Given the description of an element on the screen output the (x, y) to click on. 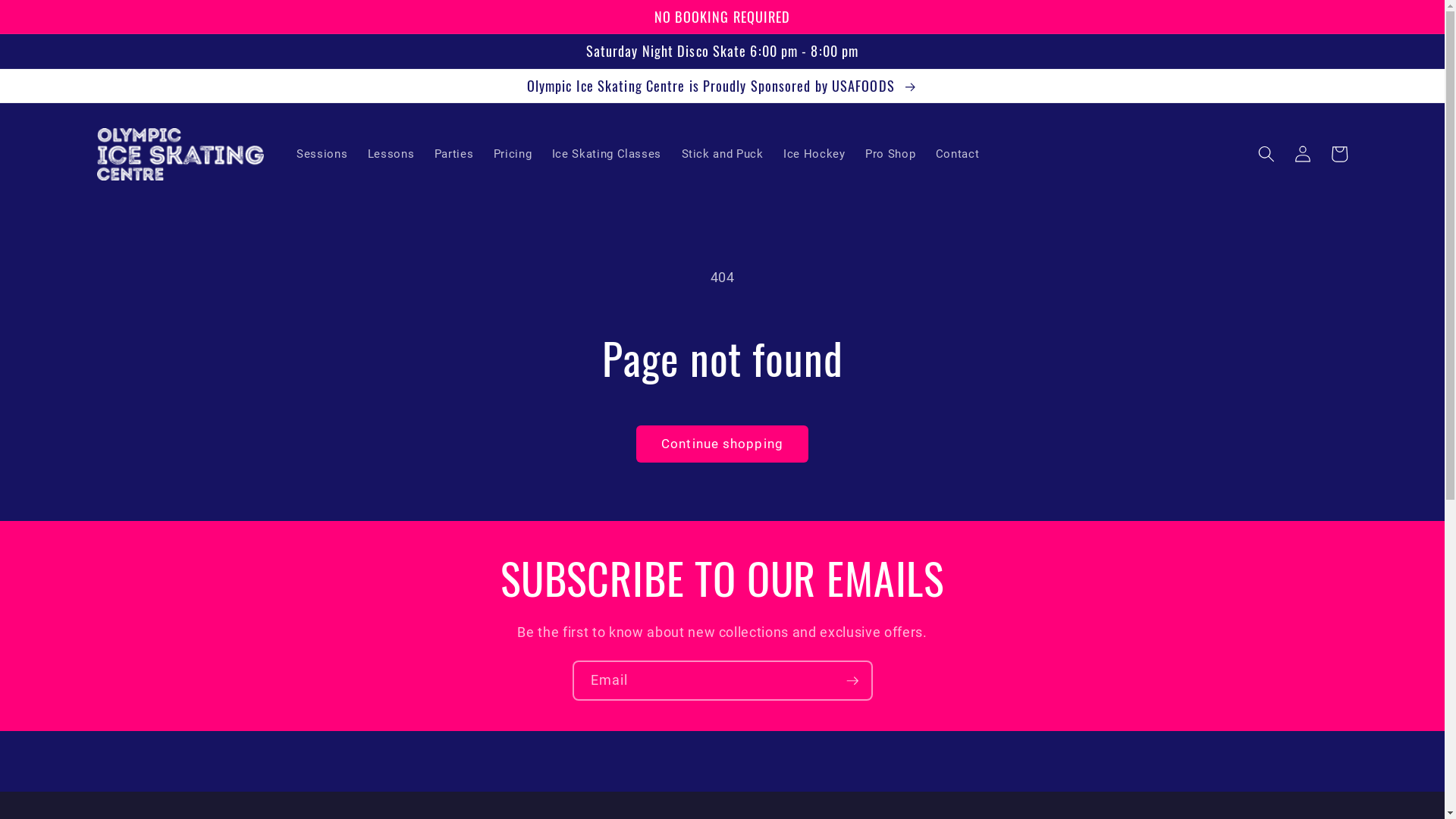
Ice Skating Classes Element type: text (606, 153)
Continue shopping Element type: text (722, 444)
Ice Hockey Element type: text (814, 153)
Log in Element type: text (1302, 153)
Pro Shop Element type: text (890, 153)
Lessons Element type: text (390, 153)
Cart Element type: text (1339, 153)
Stick and Puck Element type: text (722, 153)
Sessions Element type: text (321, 153)
Pricing Element type: text (512, 153)
Contact Element type: text (957, 153)
Parties Element type: text (453, 153)
Olympic Ice Skating Centre is Proudly Sponsored by USAFOODS Element type: text (722, 85)
